Given the description of an element on the screen output the (x, y) to click on. 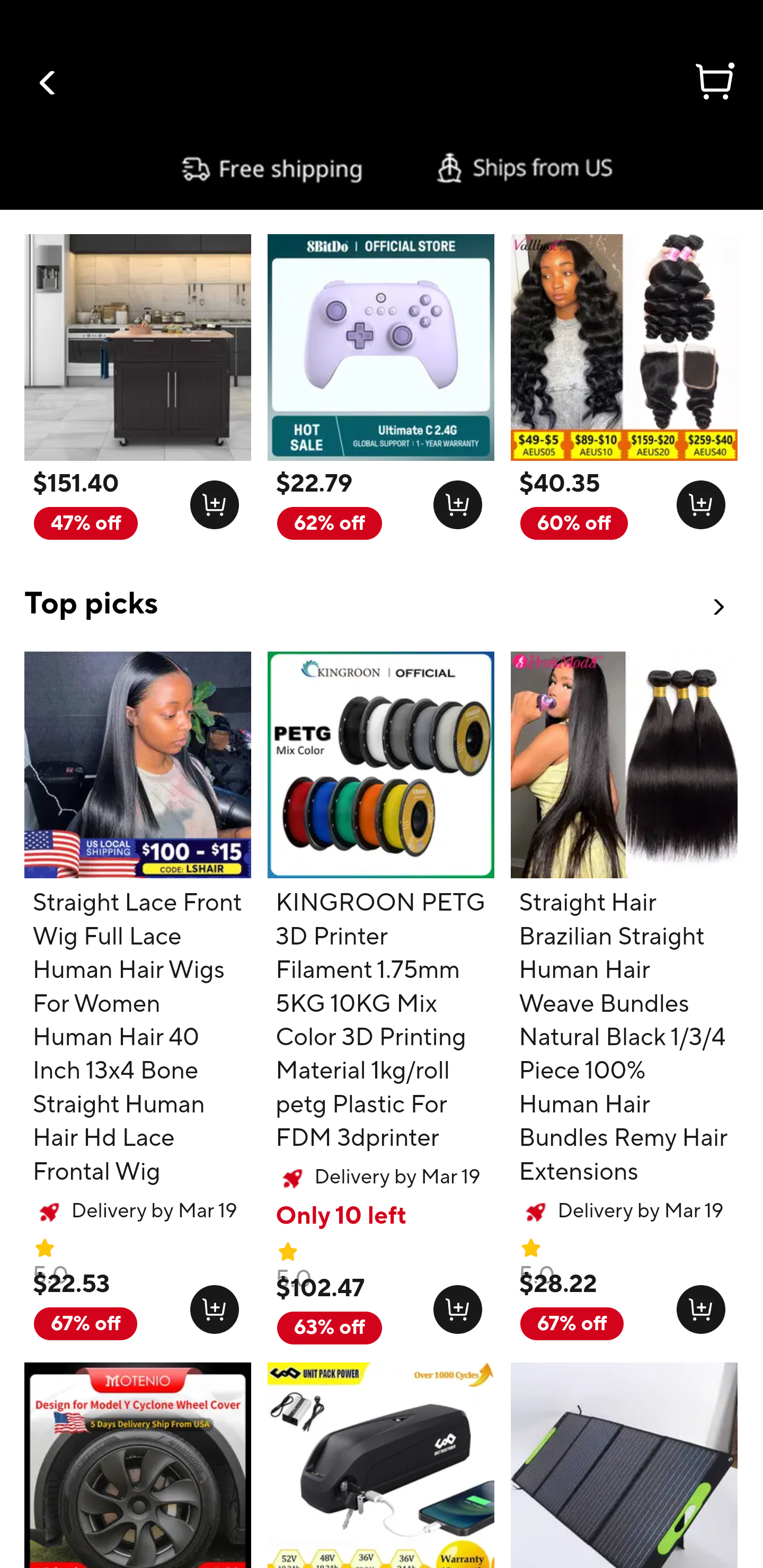
 (48, 82)
𓟄 (713, 83)
128x128.png_ (210, 500)
128x128.png_ (453, 500)
128x128.png_ (695, 500)
Top picks  Top picks (381, 592)
128x128.png_ (210, 1304)
128x128.png_ (453, 1304)
128x128.png_ (695, 1304)
